Given the description of an element on the screen output the (x, y) to click on. 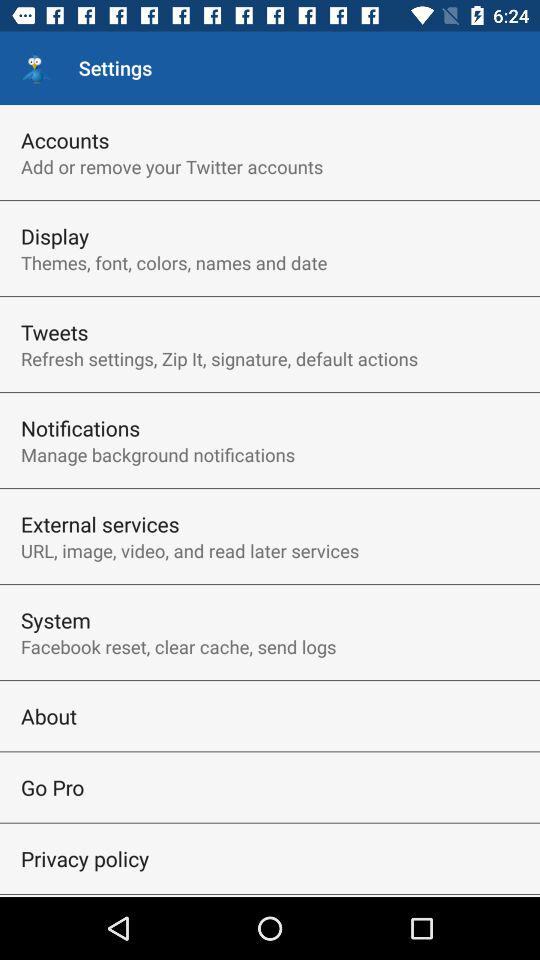
launch the icon above the display item (172, 166)
